Given the description of an element on the screen output the (x, y) to click on. 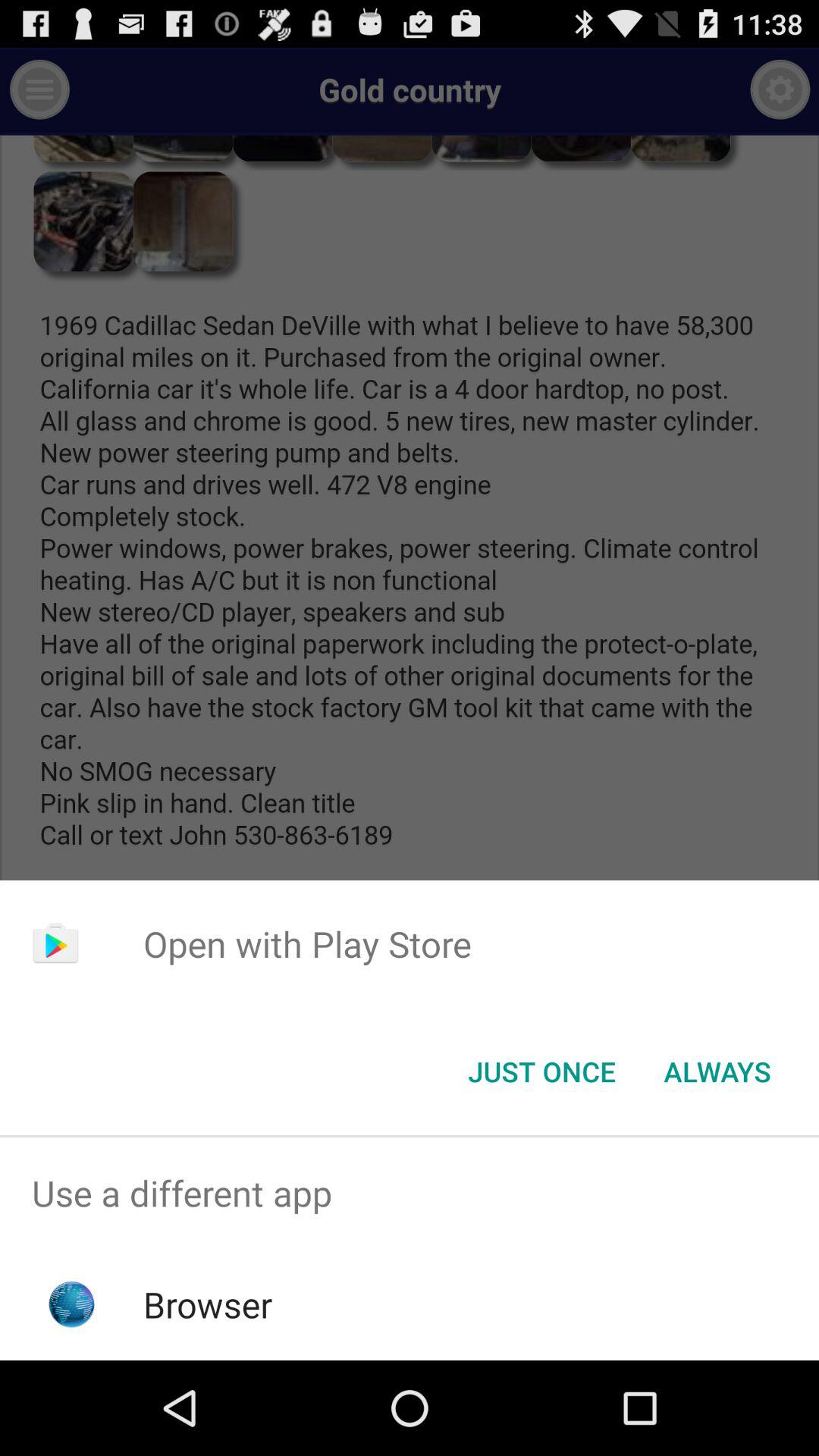
press always at the bottom right corner (717, 1071)
